Given the description of an element on the screen output the (x, y) to click on. 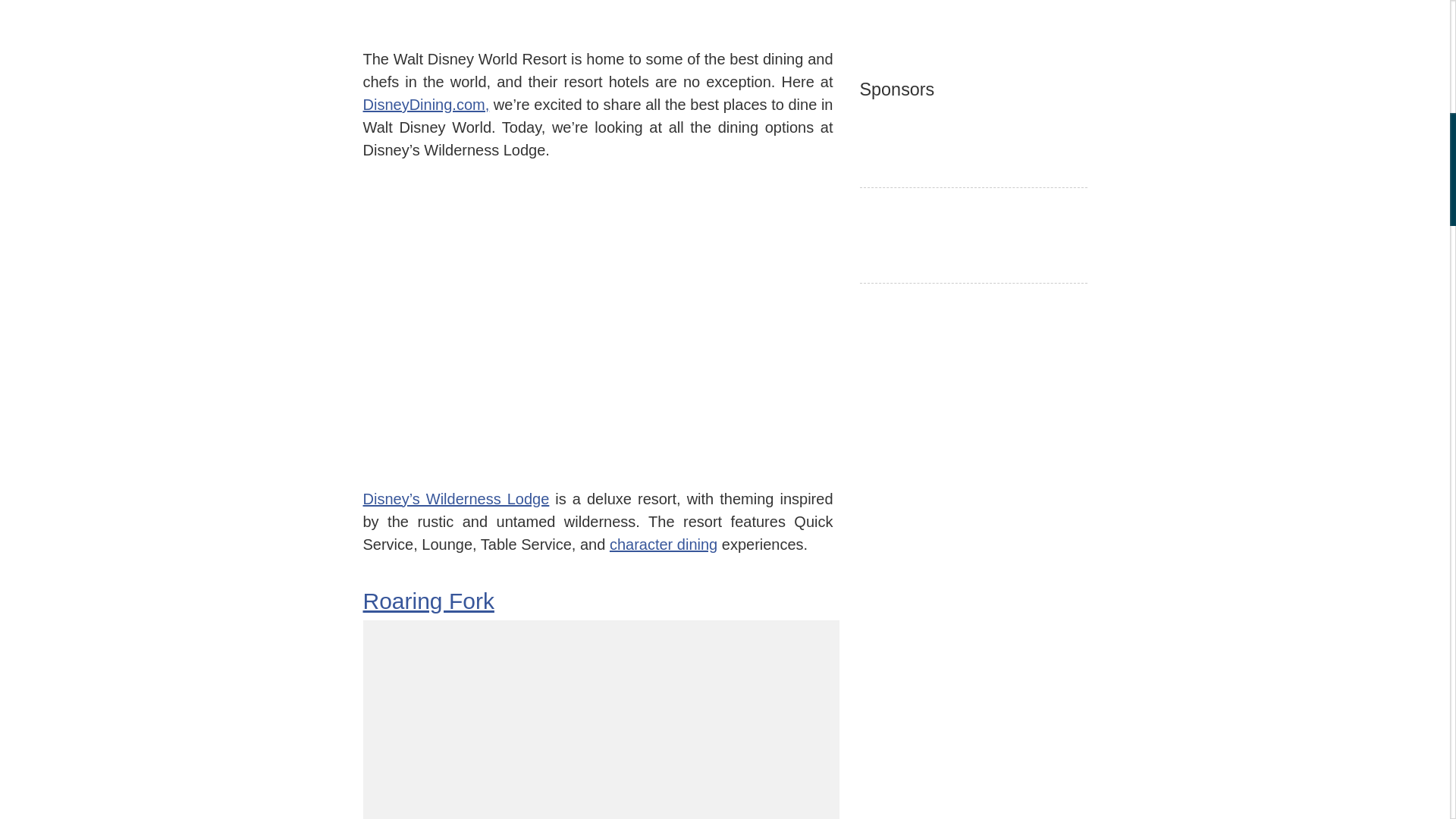
Roaring Fork (427, 600)
character dining (663, 543)
character dining (663, 543)
DisneyDining.com, (425, 104)
